Given the description of an element on the screen output the (x, y) to click on. 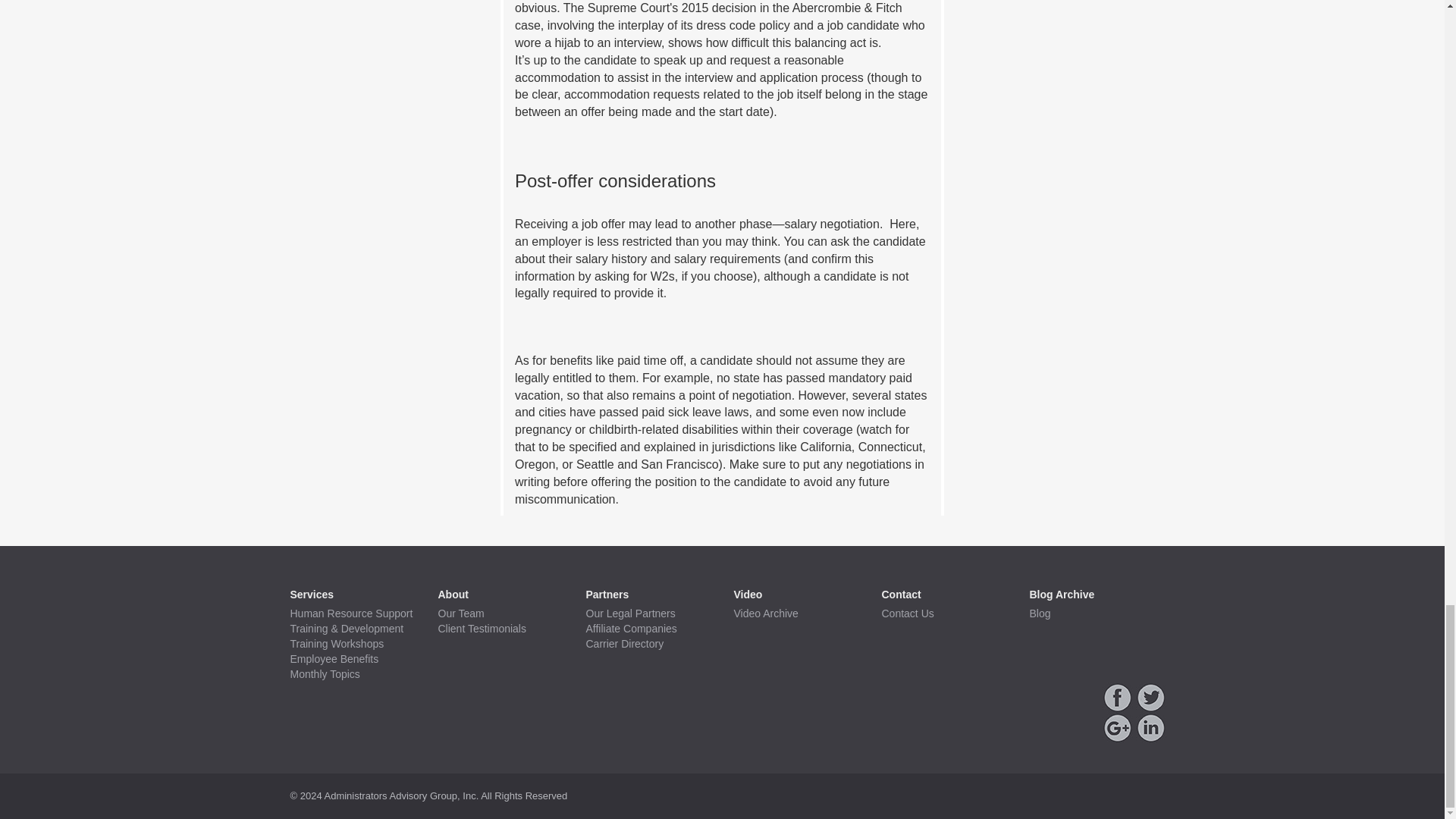
Client Testimonials (500, 629)
Monthly Topics (351, 674)
Employee Benefits (351, 659)
Affiliate Companies (647, 629)
Blog (1091, 613)
Training Workshops (351, 644)
Contact Us (943, 613)
Carrier Directory (647, 644)
Our Team (500, 613)
Video Archive (796, 613)
